Given the description of an element on the screen output the (x, y) to click on. 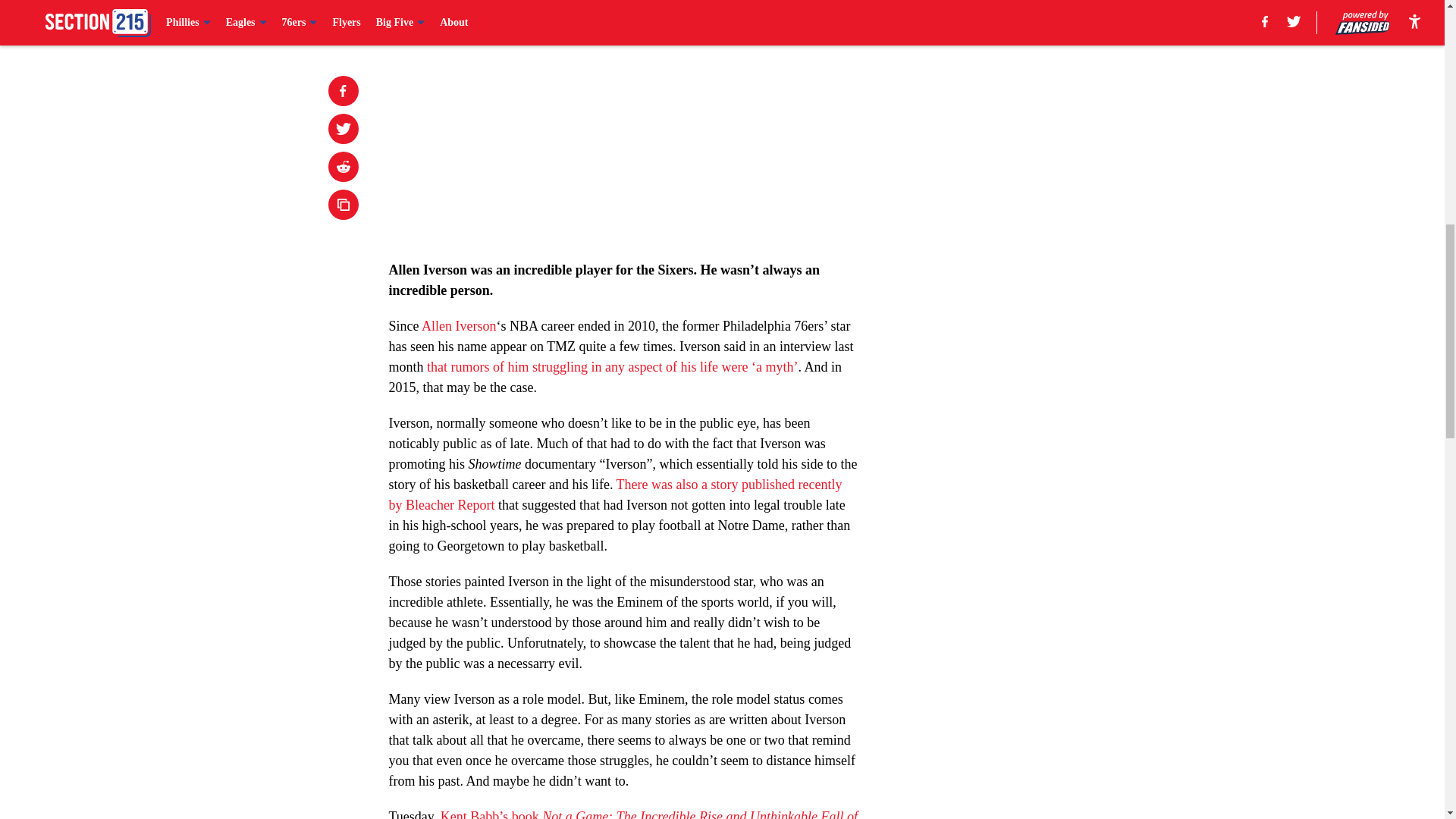
Allen Iverson (459, 325)
There was also a story published recently by Bleacher Report (614, 494)
